Given the description of an element on the screen output the (x, y) to click on. 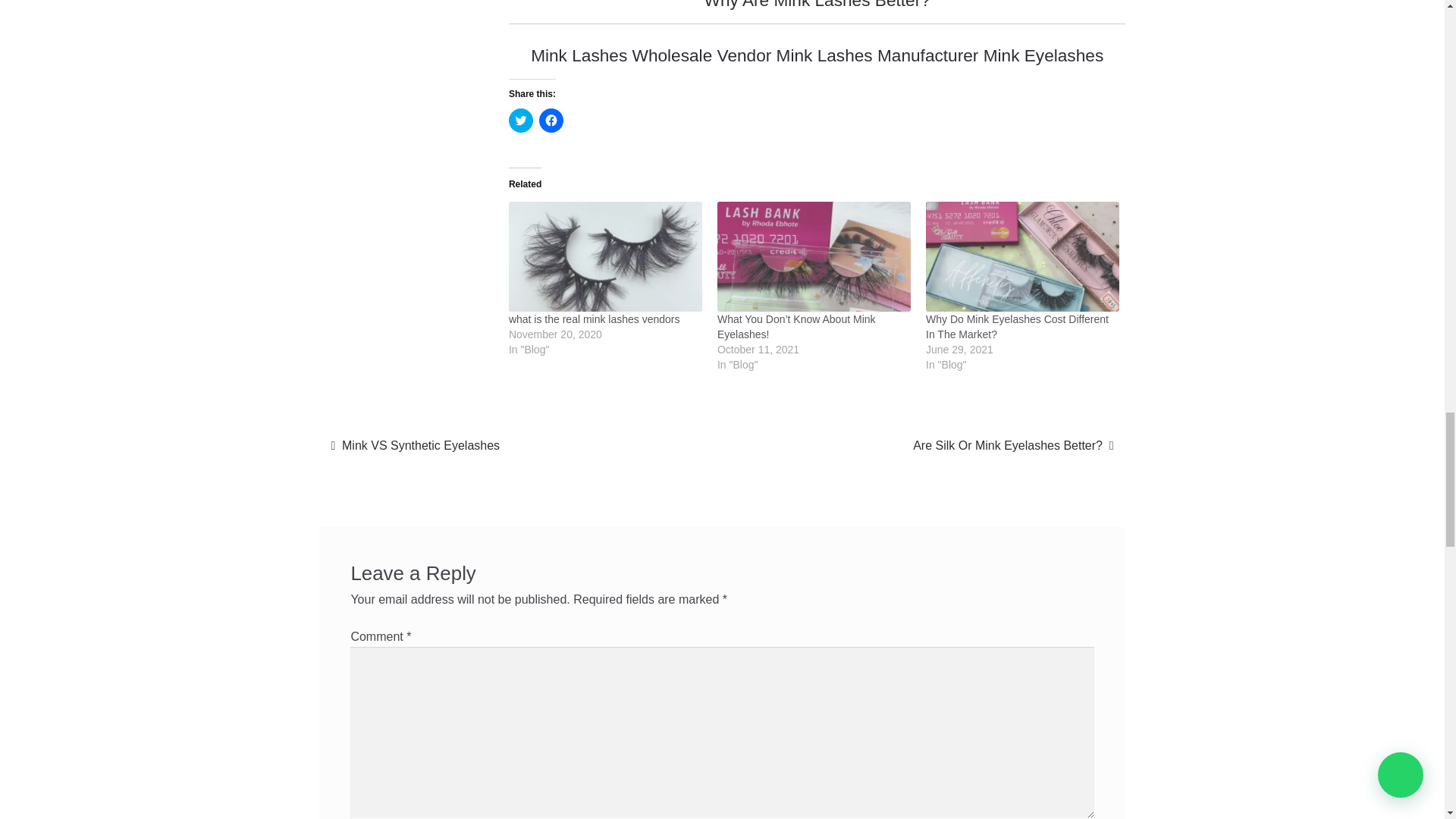
Click to share on Facebook (550, 120)
what is the real mink lashes vendors (593, 318)
Click to share on Twitter (520, 120)
Why Do Mink Eyelashes Cost Different In The Market? (1022, 256)
what is the real mink lashes vendors (604, 256)
Why Do Mink Eyelashes Cost Different In The Market? (1017, 326)
